Given the description of an element on the screen output the (x, y) to click on. 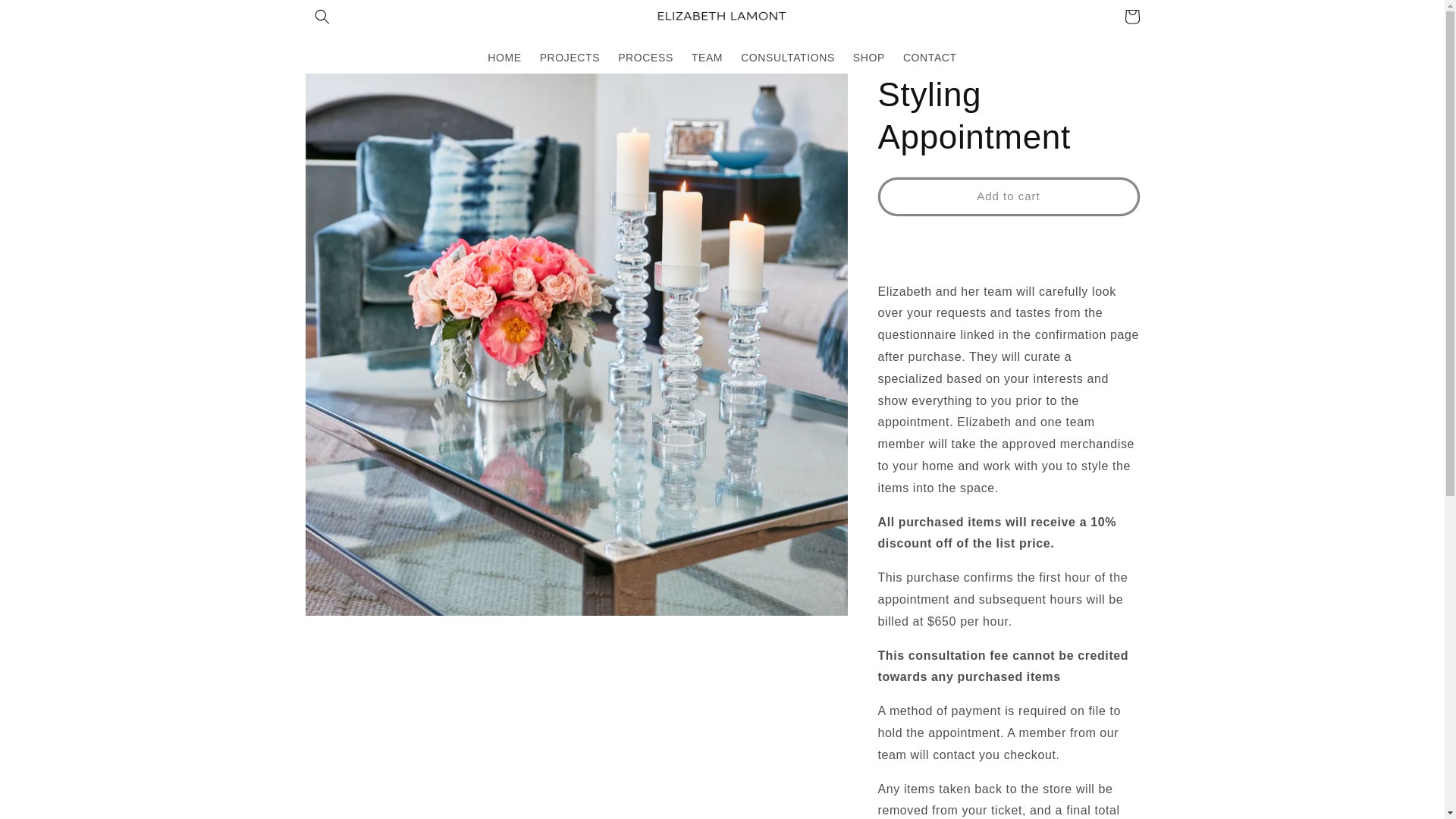
Skip to product information (352, 91)
Cart (1131, 16)
HOME (504, 56)
Add to cart (1008, 196)
PROCESS (645, 56)
Skip to content (47, 18)
SHOP (868, 56)
CONTACT (929, 56)
PROJECTS (569, 56)
CONSULTATIONS (788, 56)
